Given the description of an element on the screen output the (x, y) to click on. 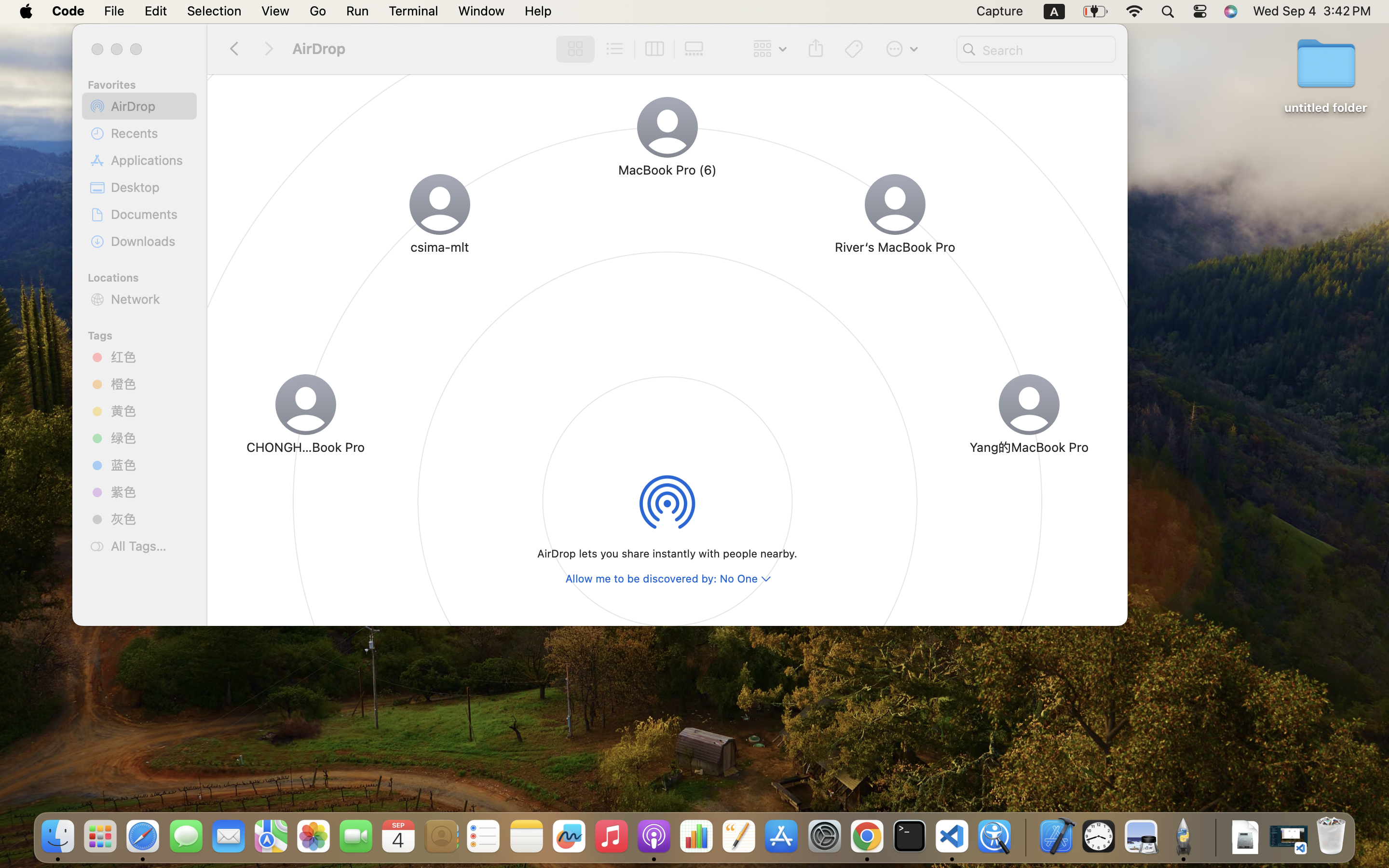
蓝色 Element type: AXStaticText (149, 464)
紫色 Element type: AXStaticText (149, 491)
